Given the description of an element on the screen output the (x, y) to click on. 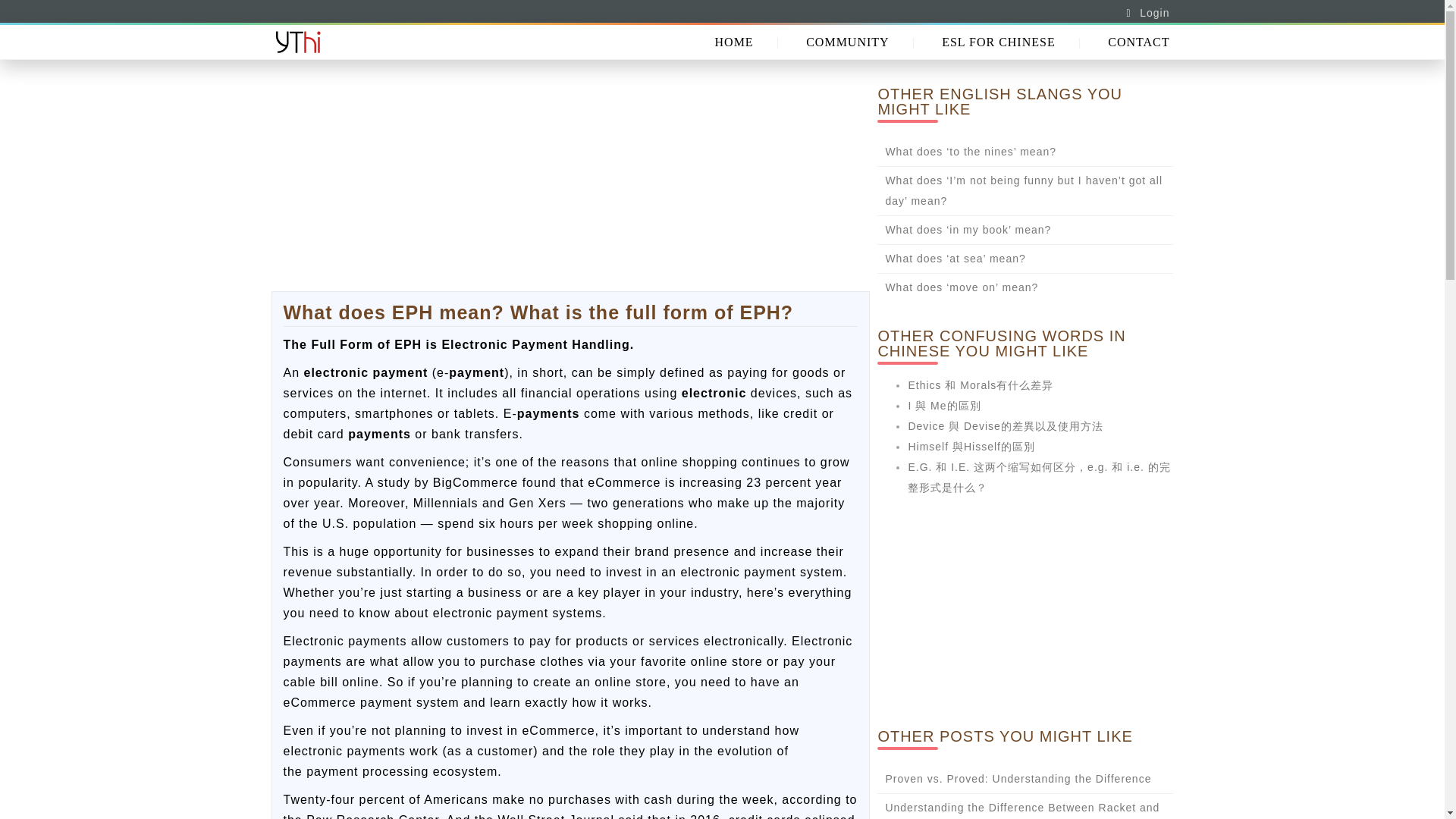
Advertisement (570, 184)
Login (1154, 12)
COMMUNITY (846, 41)
HOME (734, 41)
CONTACT (1138, 41)
ESL FOR CHINESE (998, 41)
Proven vs. Proved: Understanding the Difference (1018, 778)
